Given the description of an element on the screen output the (x, y) to click on. 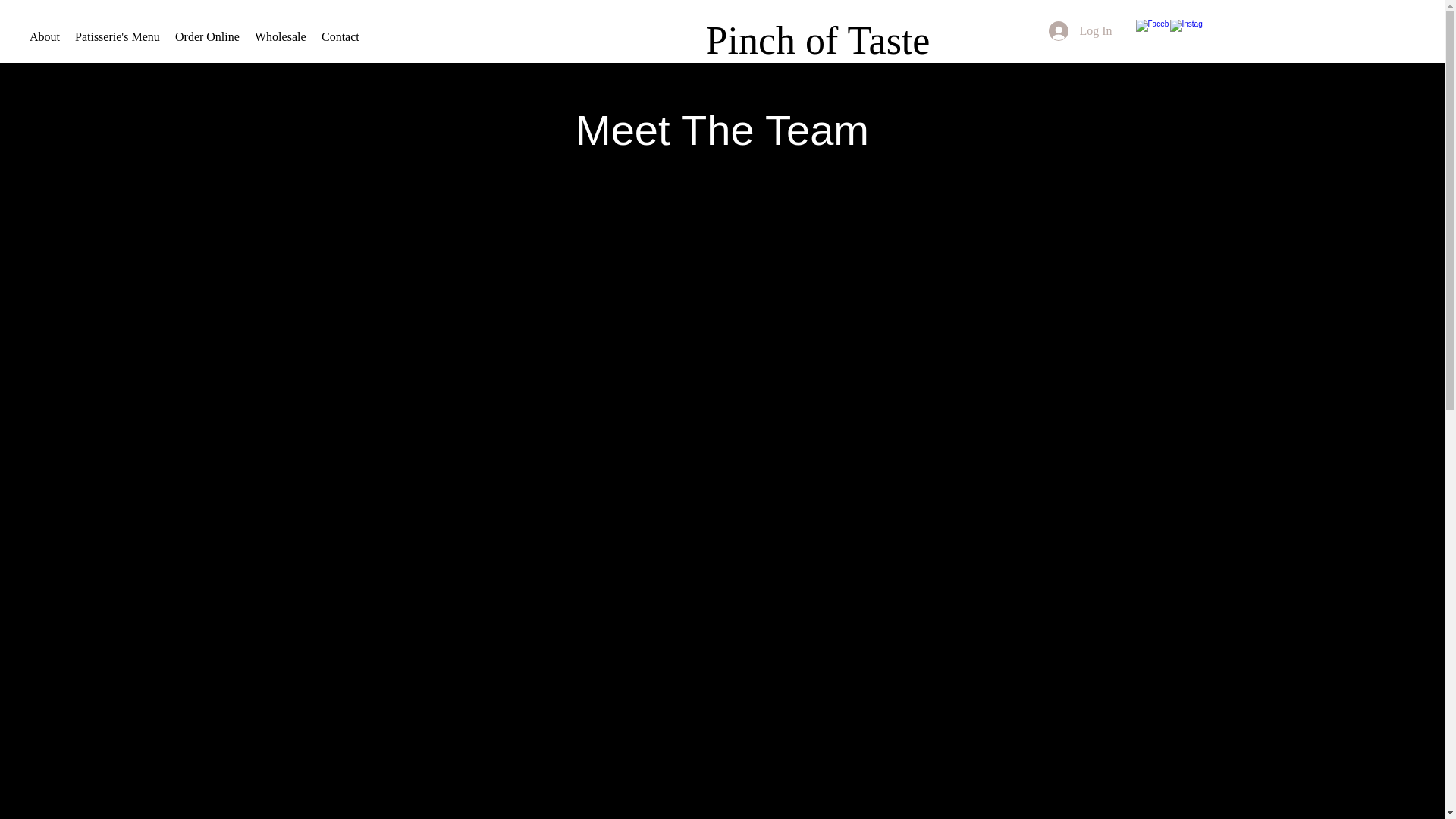
Patisserie's Menu (116, 36)
Pinch of Taste (818, 40)
Order Online (207, 36)
About (43, 36)
Wholesale (280, 36)
Contact (340, 36)
Log In (1080, 30)
